Given the description of an element on the screen output the (x, y) to click on. 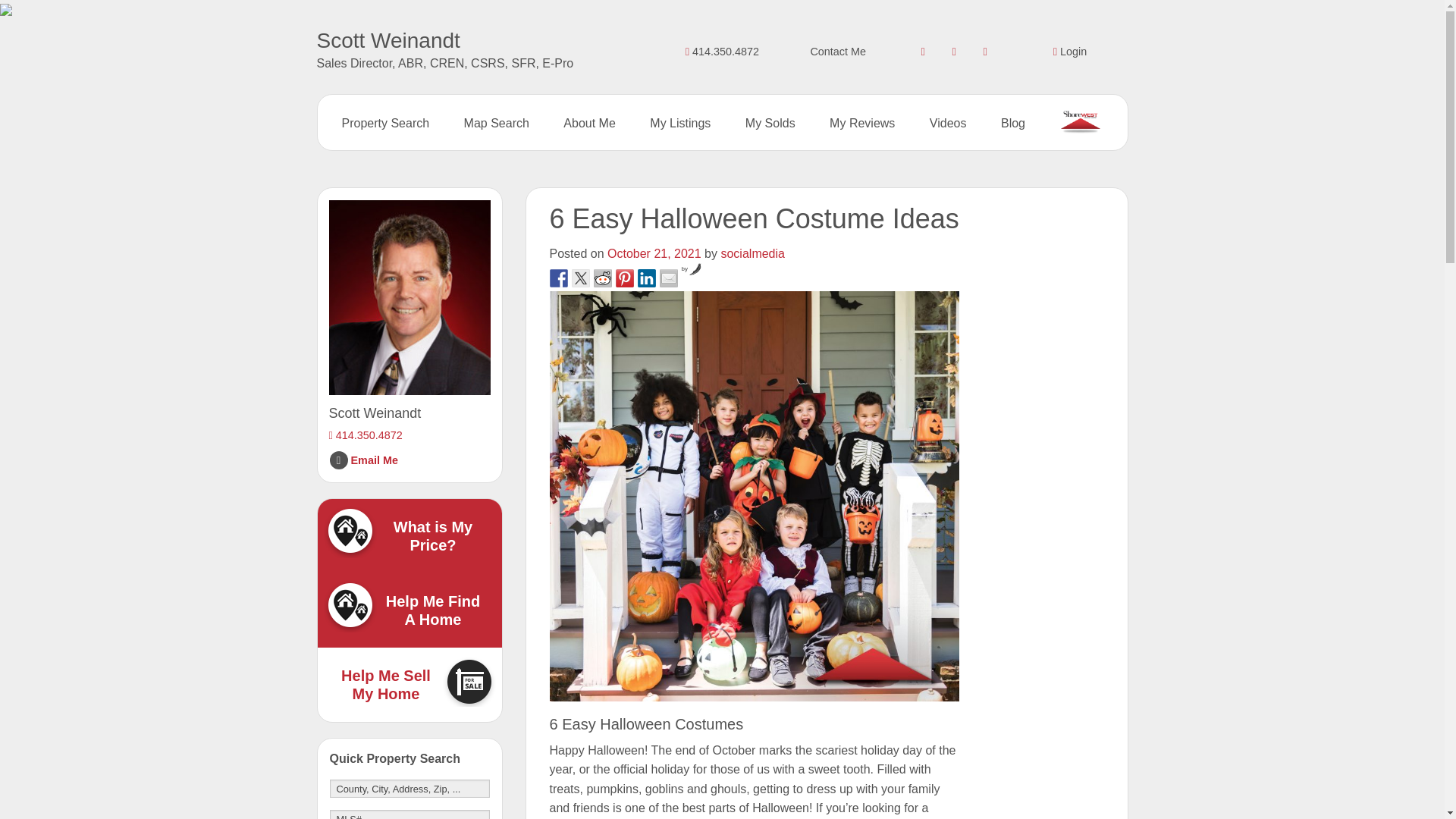
Pin it with Pinterest (624, 278)
by (691, 268)
My Solds (769, 122)
My Reviews (862, 122)
Share on Linkedin (646, 278)
October 21, 2021 (654, 253)
12:33 pm (654, 253)
414.350.4872 (721, 51)
Share by email (668, 278)
Share on Facebook (557, 278)
Contact Me (837, 51)
Share on Reddit (601, 278)
My Listings (679, 122)
Login (1069, 51)
Videos (948, 122)
